Given the description of an element on the screen output the (x, y) to click on. 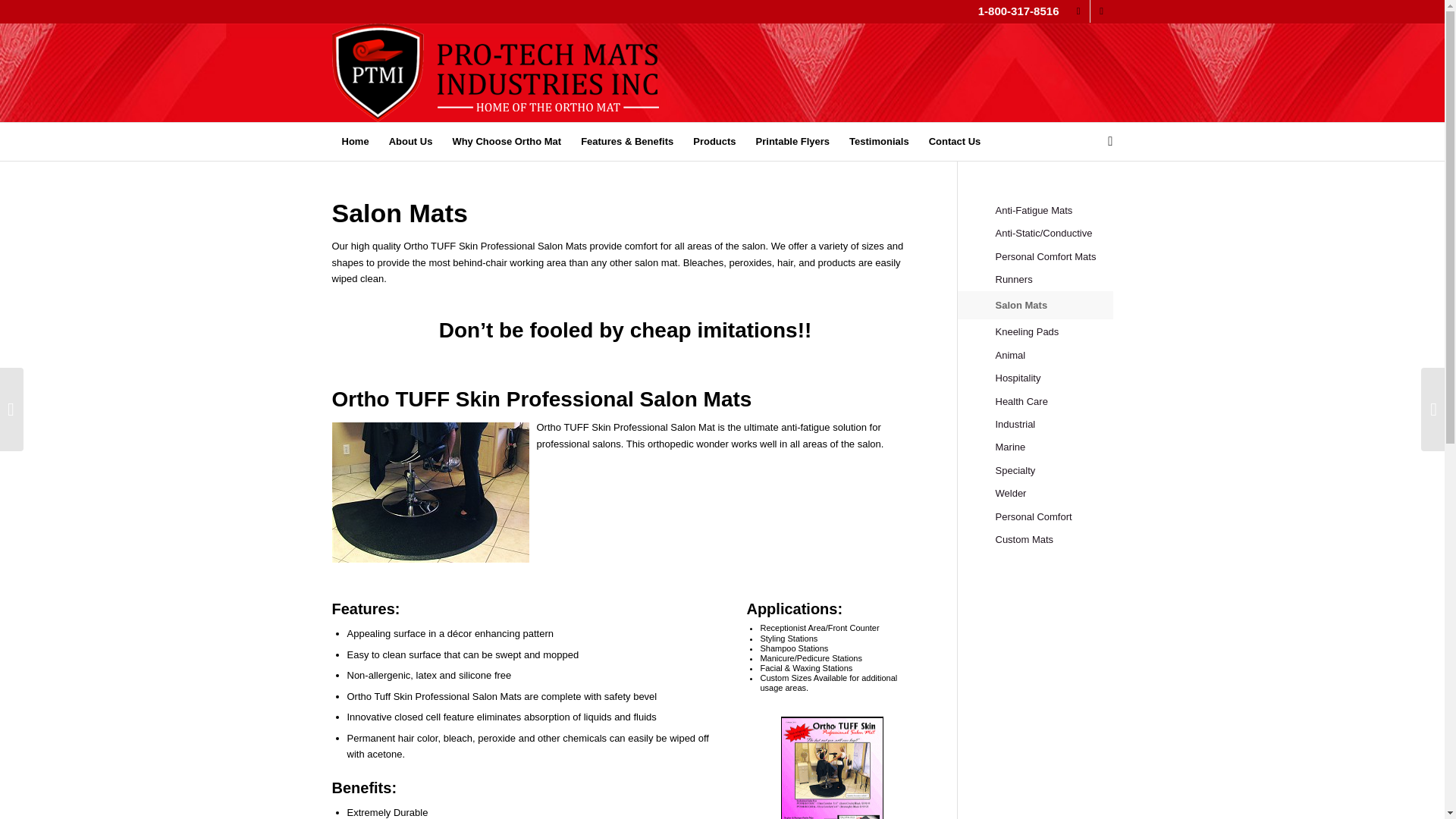
Industrial (1053, 424)
Personal Comfort (1053, 517)
Products (713, 141)
Hospitality (1053, 377)
Testimonials (879, 141)
Home (354, 141)
Kneeling Pads (1053, 332)
Runners (1053, 279)
Why Choose Ortho Mat (506, 141)
Animal (1053, 354)
